Given the description of an element on the screen output the (x, y) to click on. 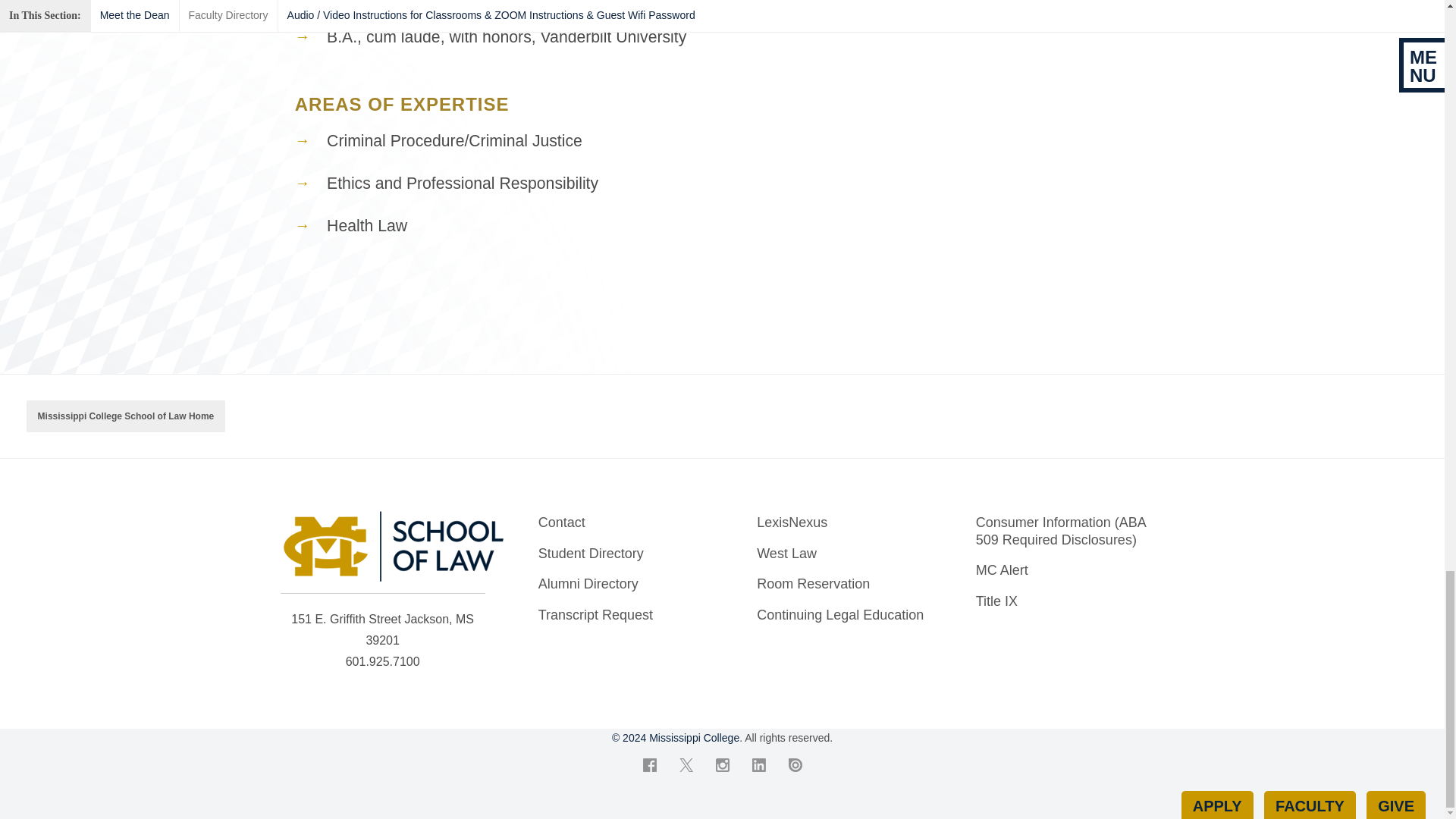
Title IX (1066, 601)
West Law (847, 553)
Issuu (795, 765)
Twitter (685, 765)
Alumni Directory (628, 583)
LexisNexus (847, 522)
Student Directory (628, 553)
Continuing Legal Education (847, 614)
LinkedIn (758, 765)
Facebook (649, 765)
Transcript Request (628, 614)
MC Alert (1066, 570)
Mississippi College School of Law Home (125, 416)
Room Reservation (847, 583)
Instagram (722, 765)
